Given the description of an element on the screen output the (x, y) to click on. 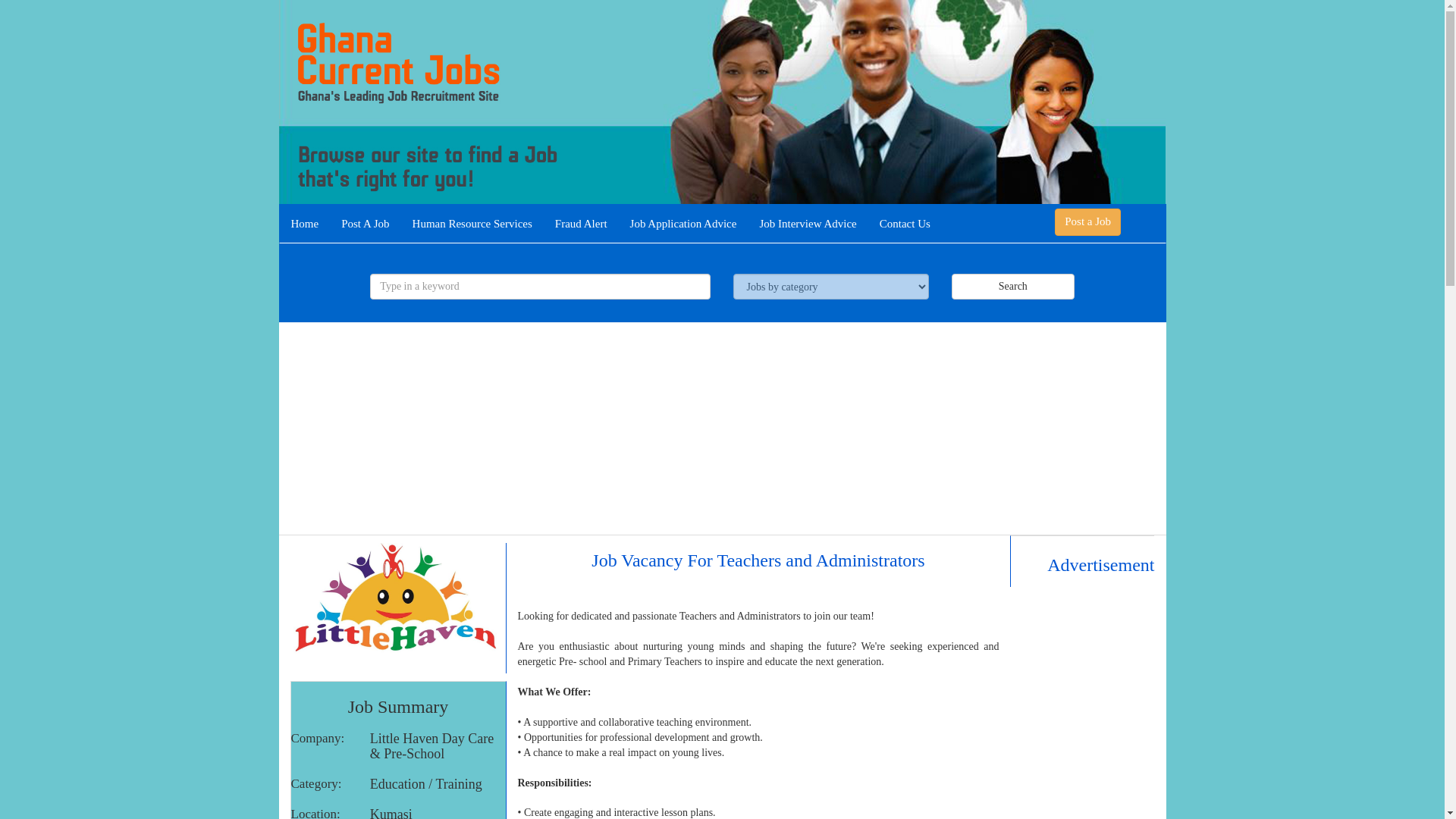
Contact Us (904, 223)
Post A Job (365, 223)
Search (1013, 286)
Fraud Alert (580, 223)
Home (304, 223)
Job Application Advice (683, 223)
Human Resource Services (472, 223)
Advertisement (1082, 703)
Post a Job (1087, 221)
Job Interview Advice (807, 223)
